Given the description of an element on the screen output the (x, y) to click on. 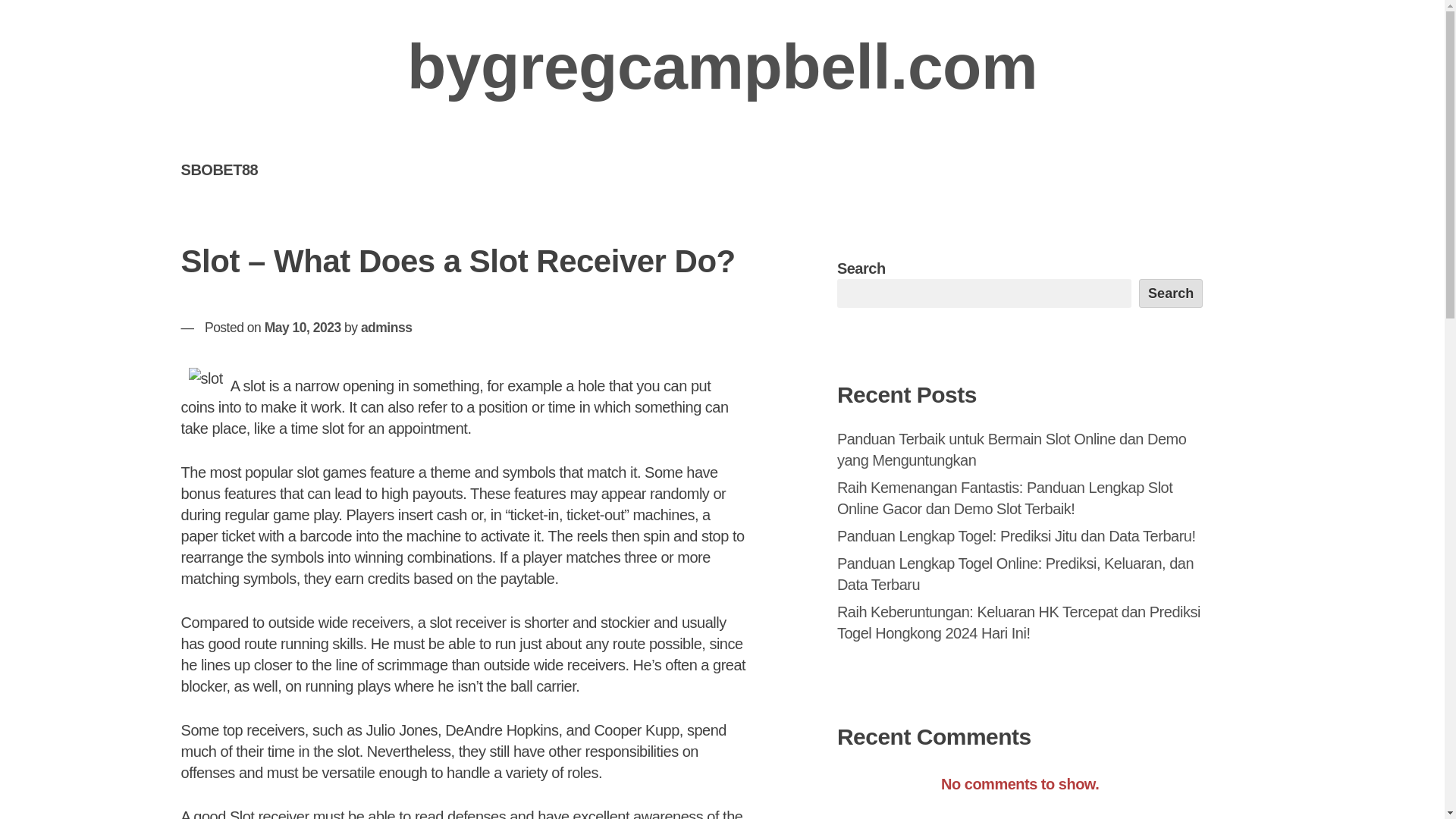
May 10, 2023 (302, 327)
bygregcampbell.com (721, 66)
Search (1171, 293)
Panduan Lengkap Togel: Prediksi Jitu dan Data Terbaru! (1016, 535)
adminss (386, 327)
SBOBET88 (219, 169)
